Given the description of an element on the screen output the (x, y) to click on. 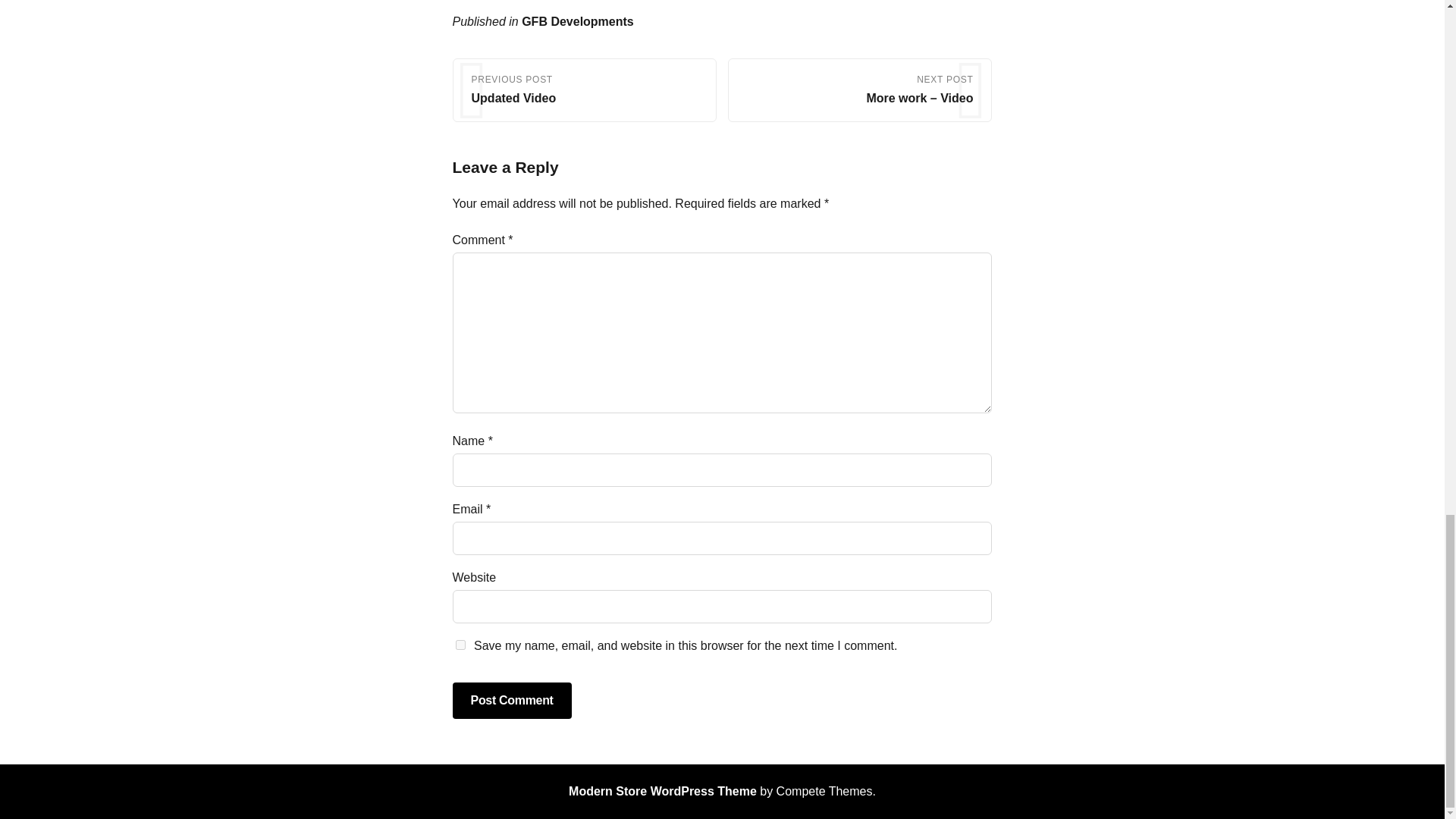
GFB Developments (577, 21)
Post Comment (512, 700)
Modern Store WordPress Theme (663, 790)
Post Comment (512, 700)
Updated Video (513, 97)
View all posts in GFB Developments (577, 21)
yes (460, 644)
